Given the description of an element on the screen output the (x, y) to click on. 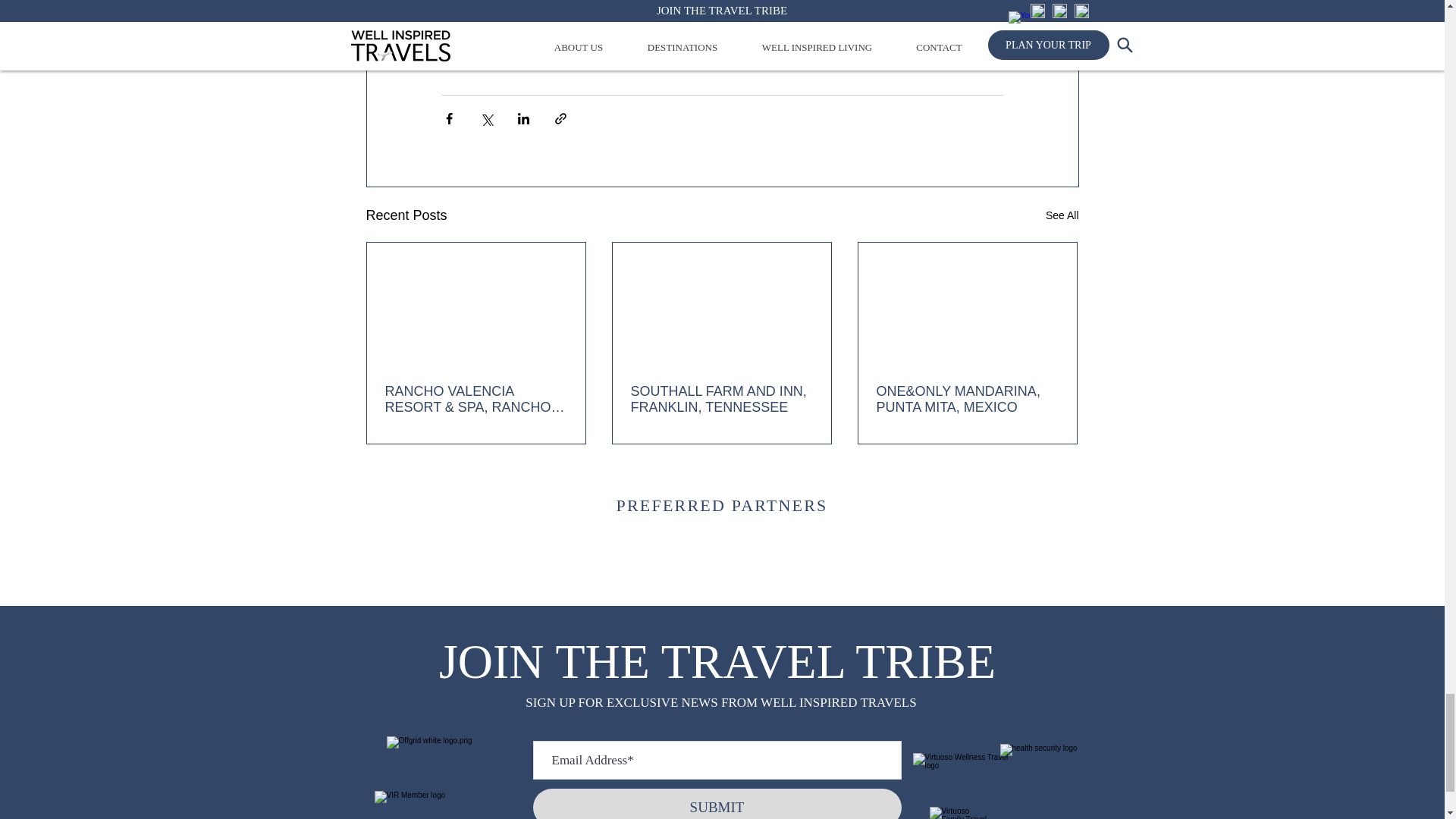
SUBMIT (716, 803)
See All (1061, 215)
SOUTHALL FARM AND INN, FRANKLIN, TENNESSEE (721, 399)
